Given the description of an element on the screen output the (x, y) to click on. 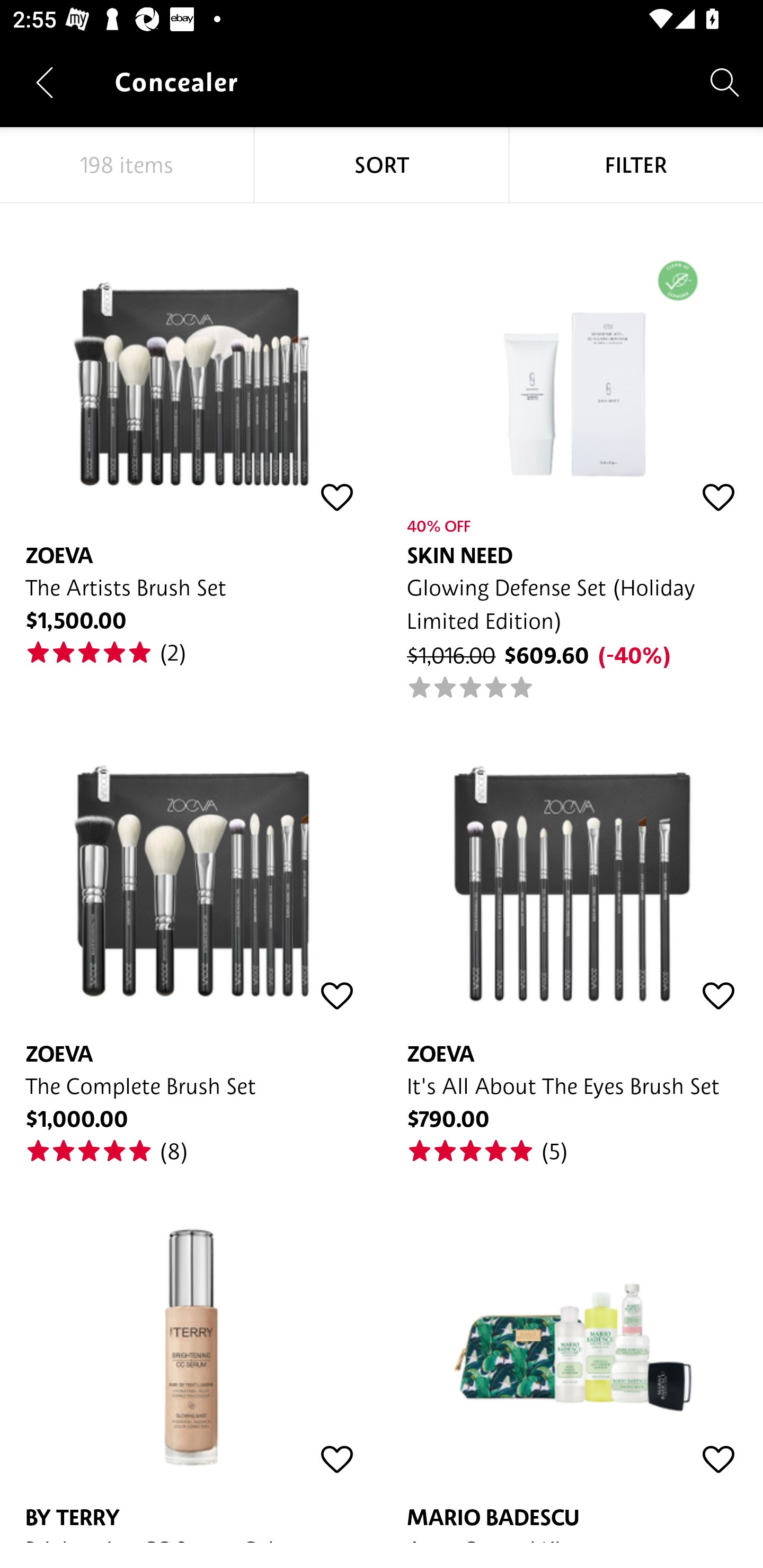
Navigate up (44, 82)
Search (724, 81)
SORT (381, 165)
FILTER (636, 165)
ZOEVA The Artists Brush Set $1,500.00 (2) (190, 434)
ZOEVA The Complete Brush Set $1,000.00 (8) (190, 933)
MARIO BADESCU Acne Control Kit (571, 1353)
